Given the description of an element on the screen output the (x, y) to click on. 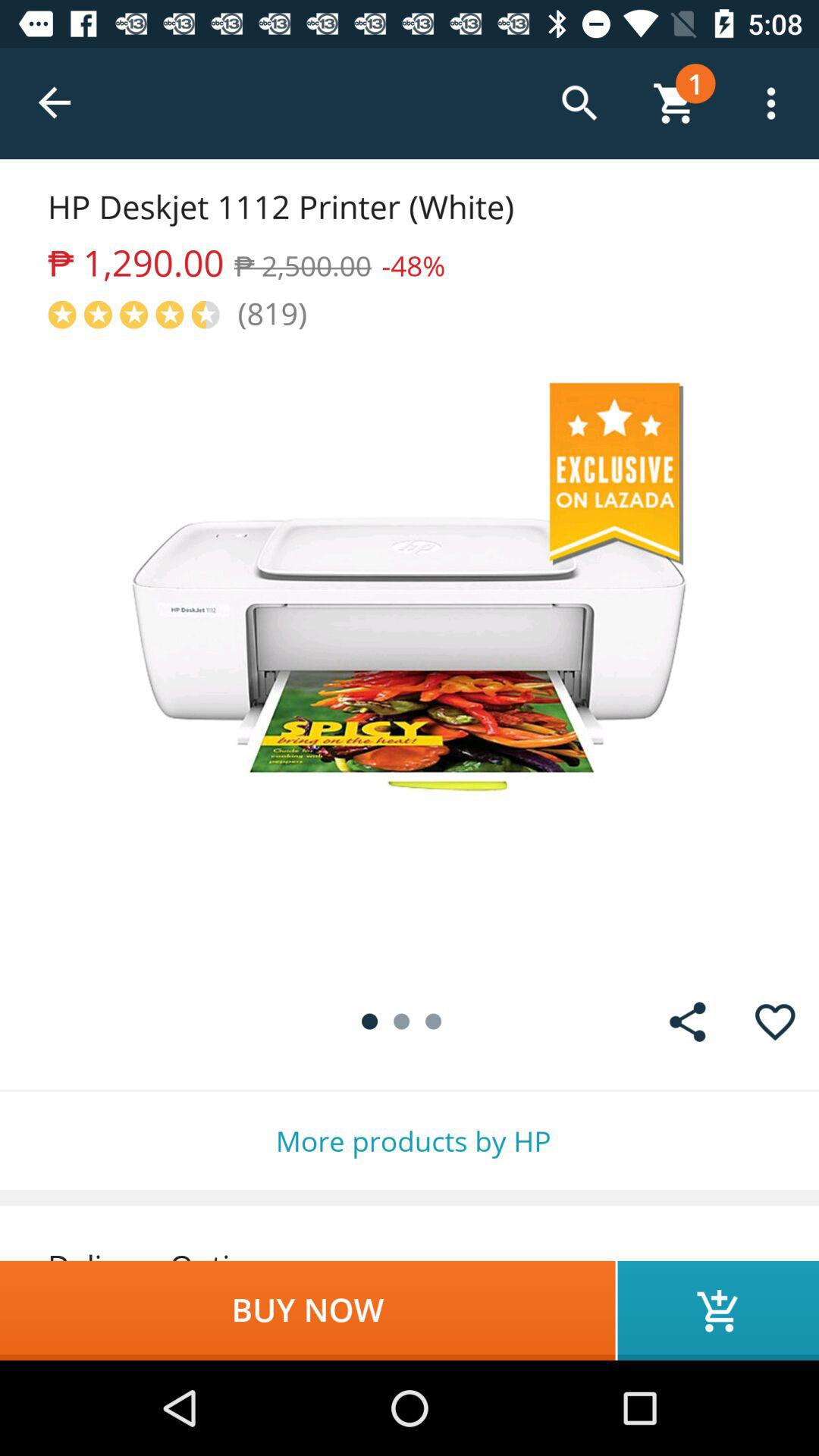
turn off the icon below the (819) item (409, 655)
